Given the description of an element on the screen output the (x, y) to click on. 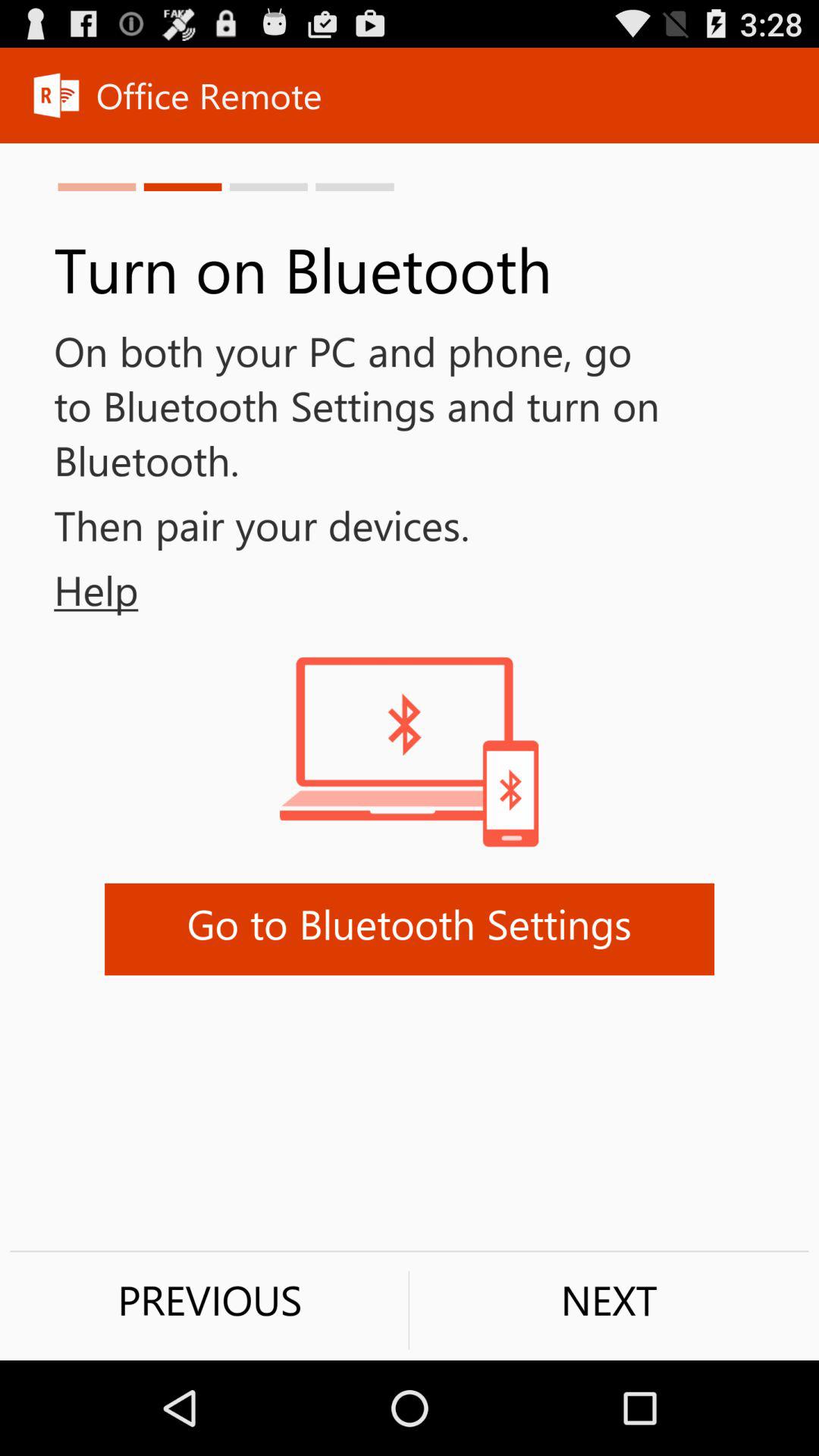
select icon below go to bluetooth icon (209, 1300)
